Given the description of an element on the screen output the (x, y) to click on. 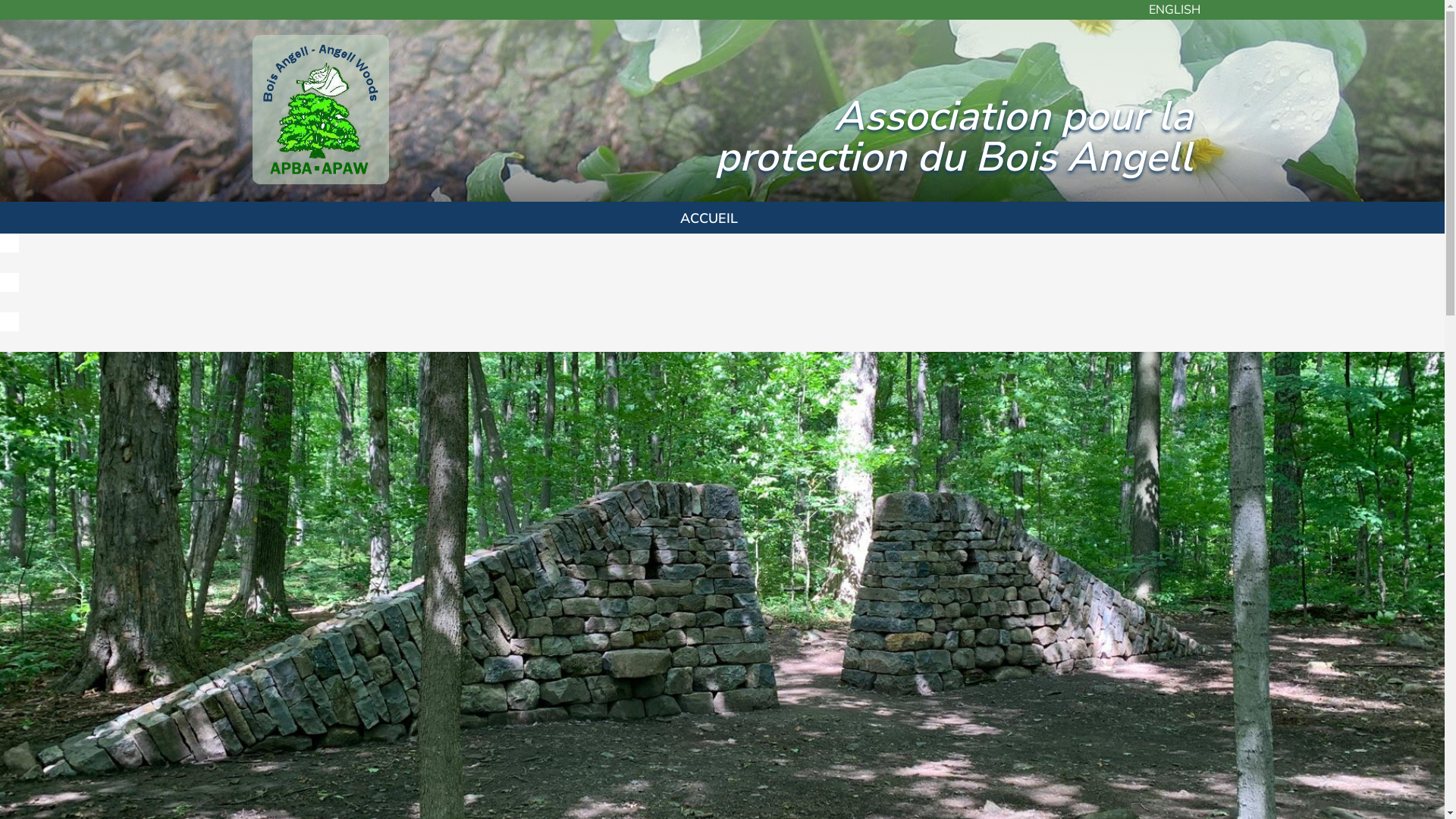
ACCUEIL Element type: text (708, 217)
